Given the description of an element on the screen output the (x, y) to click on. 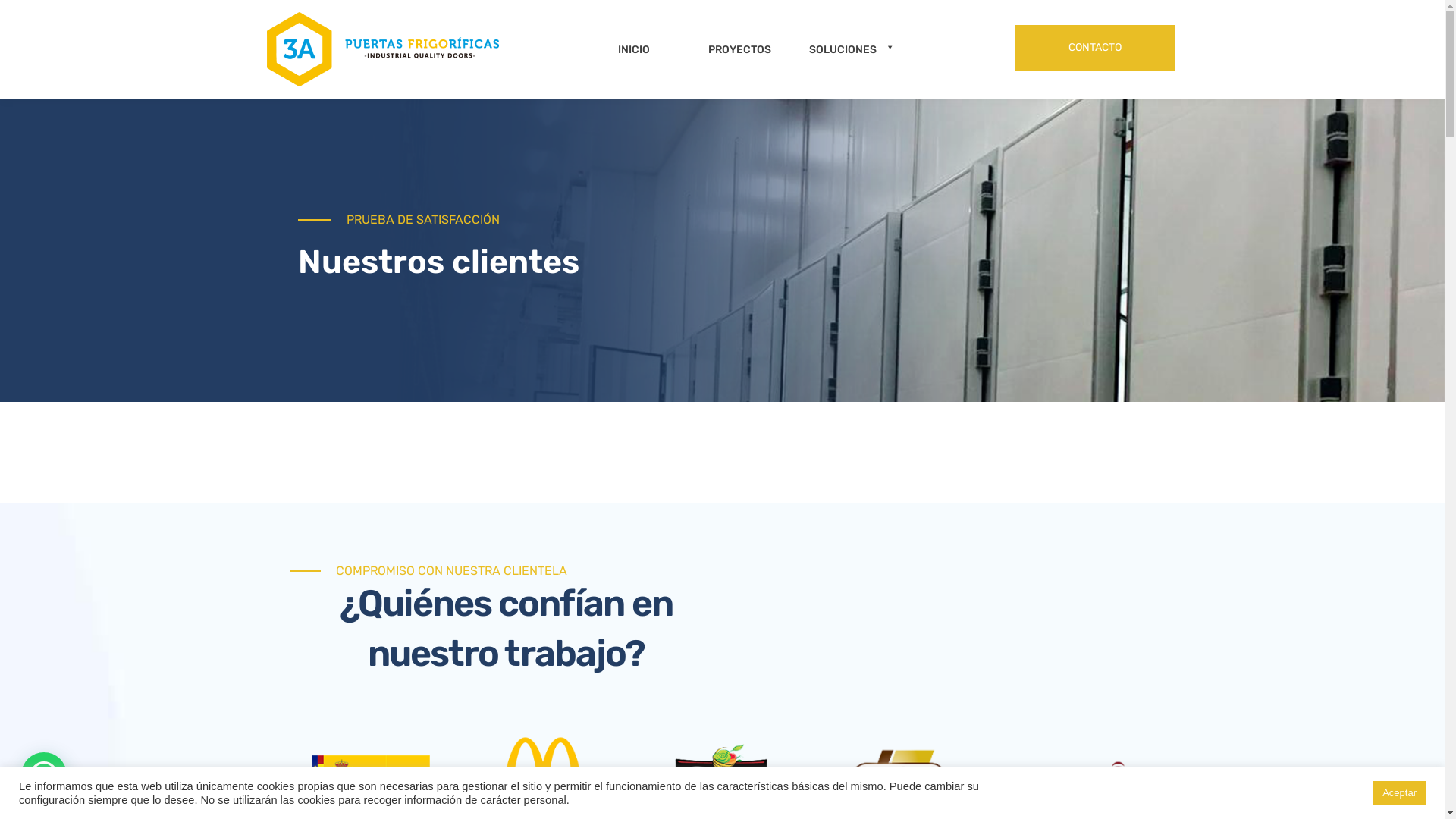
Aceptar Element type: text (1399, 792)
SOLUCIONES Element type: text (853, 48)
INICIO Element type: text (623, 48)
CONTACTO Element type: text (1094, 47)
PROYECTOS Element type: text (729, 48)
